Given the description of an element on the screen output the (x, y) to click on. 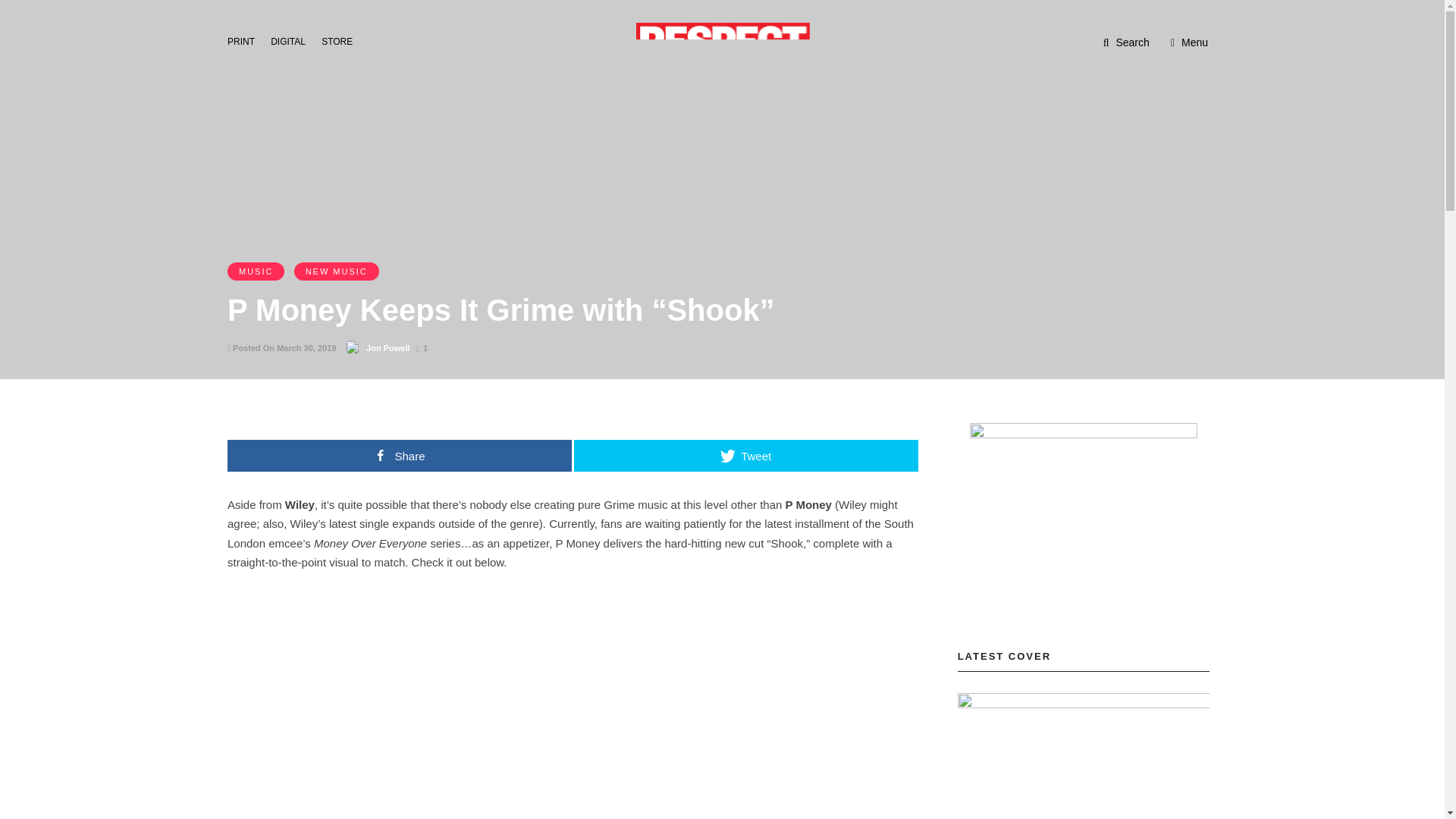
Search (1126, 41)
NEW MUSIC (336, 271)
DIGITAL (292, 40)
PRINT (245, 40)
MUSIC (255, 271)
Menu (1189, 41)
STORE (341, 40)
